Given the description of an element on the screen output the (x, y) to click on. 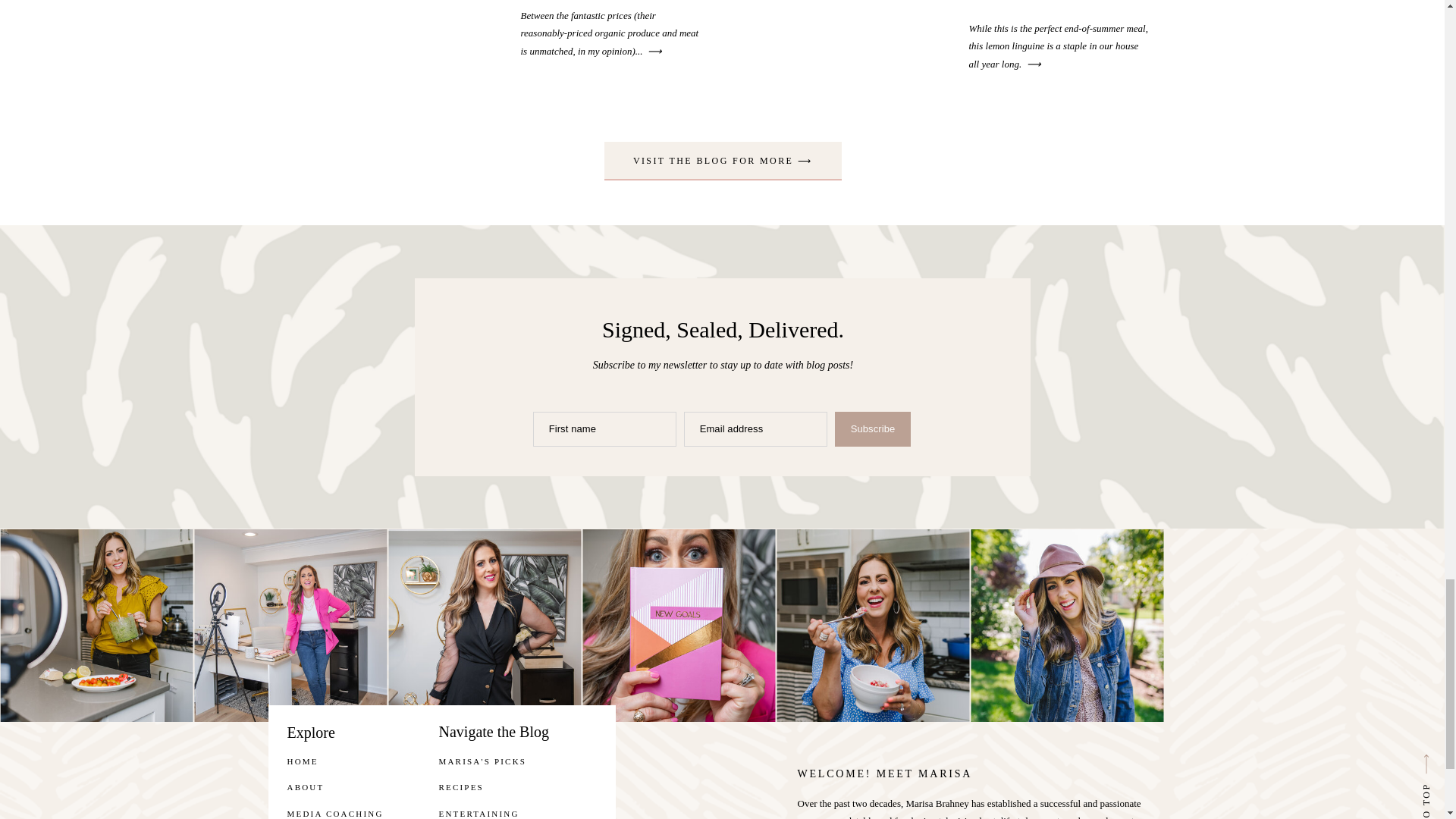
LaurenAnzevinoLLC-52 (1067, 625)
LaurenAnzevinoLLC-16 (96, 625)
LaurenAnzevinoLLC-40 (872, 625)
